Given the description of an element on the screen output the (x, y) to click on. 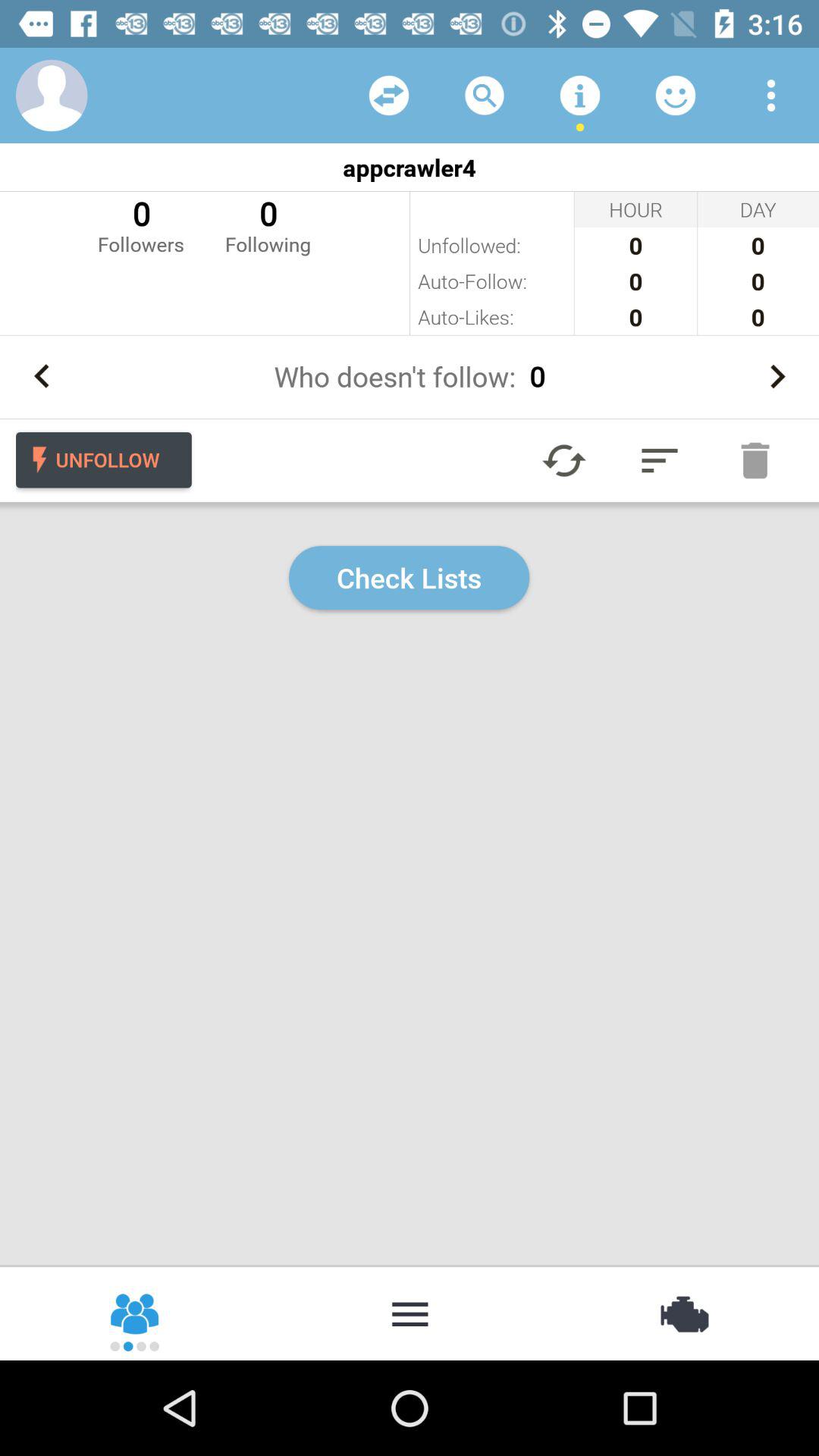
delete selection (755, 460)
